Given the description of an element on the screen output the (x, y) to click on. 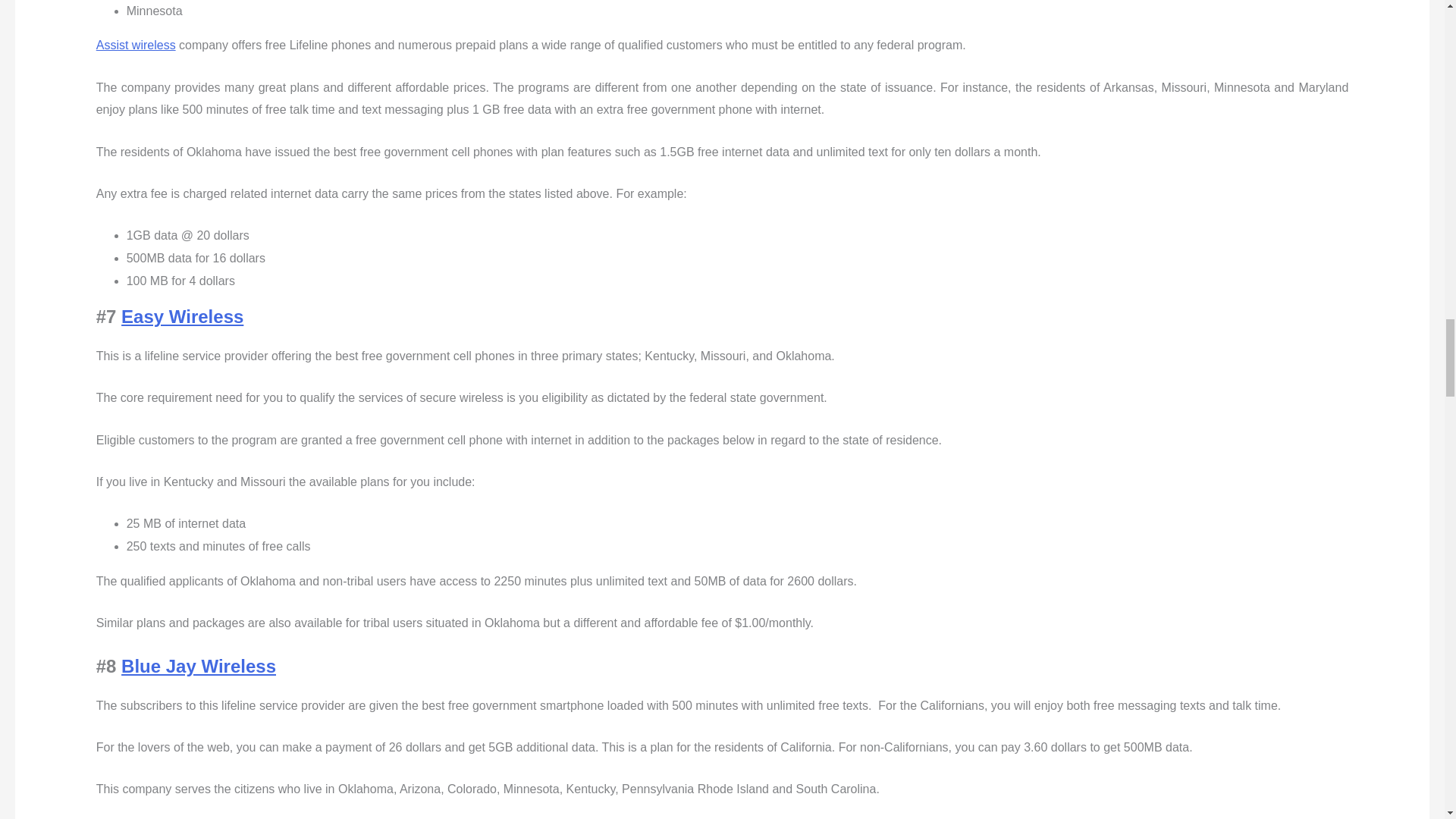
Blue Jay Wireless (198, 666)
Assist wireless (136, 44)
Easy Wireless (181, 316)
